Given the description of an element on the screen output the (x, y) to click on. 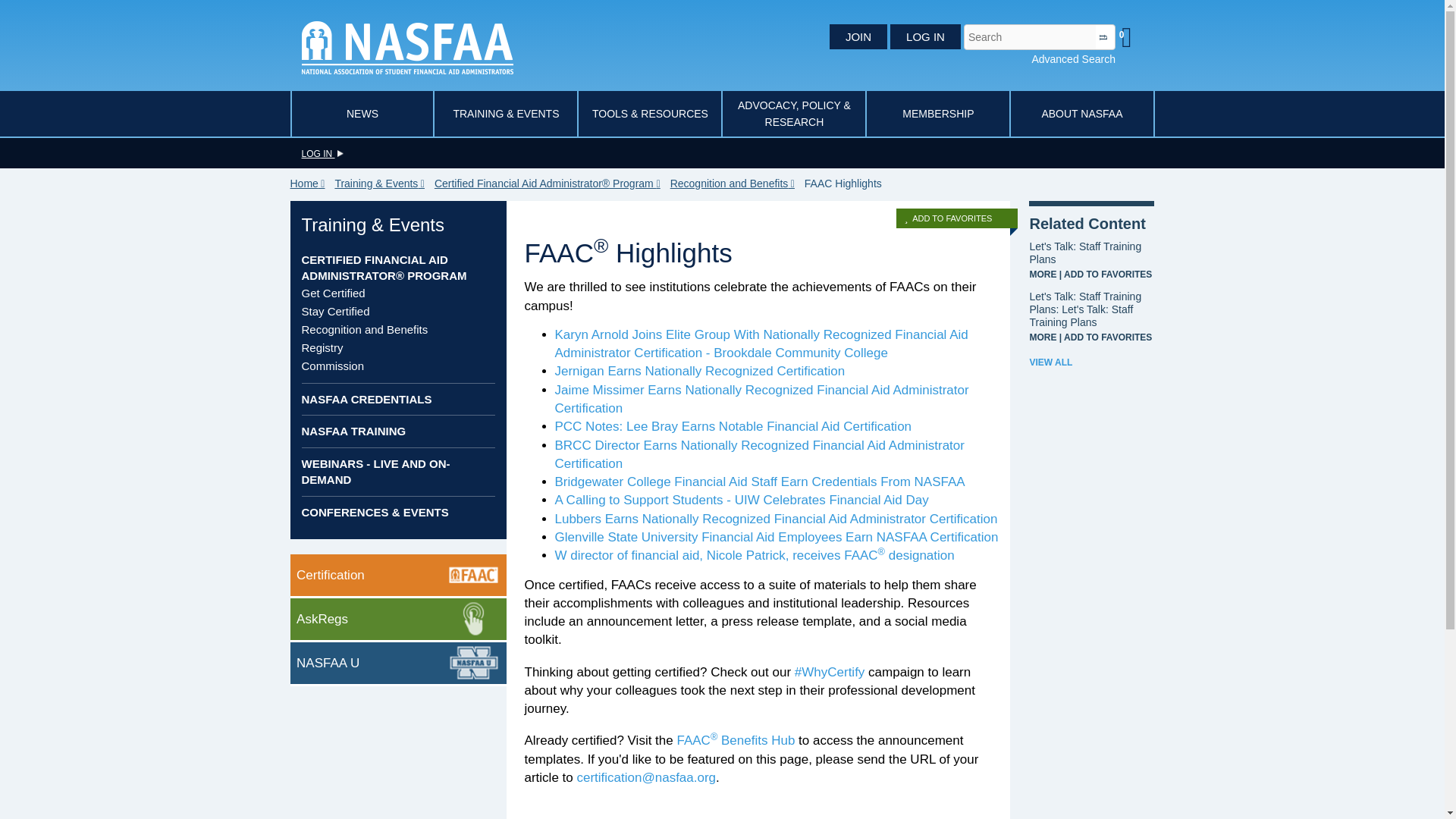
Stay Certified (335, 310)
NASFAA Credentials (366, 399)
Home (310, 183)
Registry (322, 347)
Recognition and Benefits (364, 328)
Home (407, 46)
Webinars - Live and On-Demand (375, 471)
Recognition and Benefits (735, 183)
Commission (333, 365)
Login (322, 153)
NASFAA Training (353, 431)
Get Certified (333, 292)
